Given the description of an element on the screen output the (x, y) to click on. 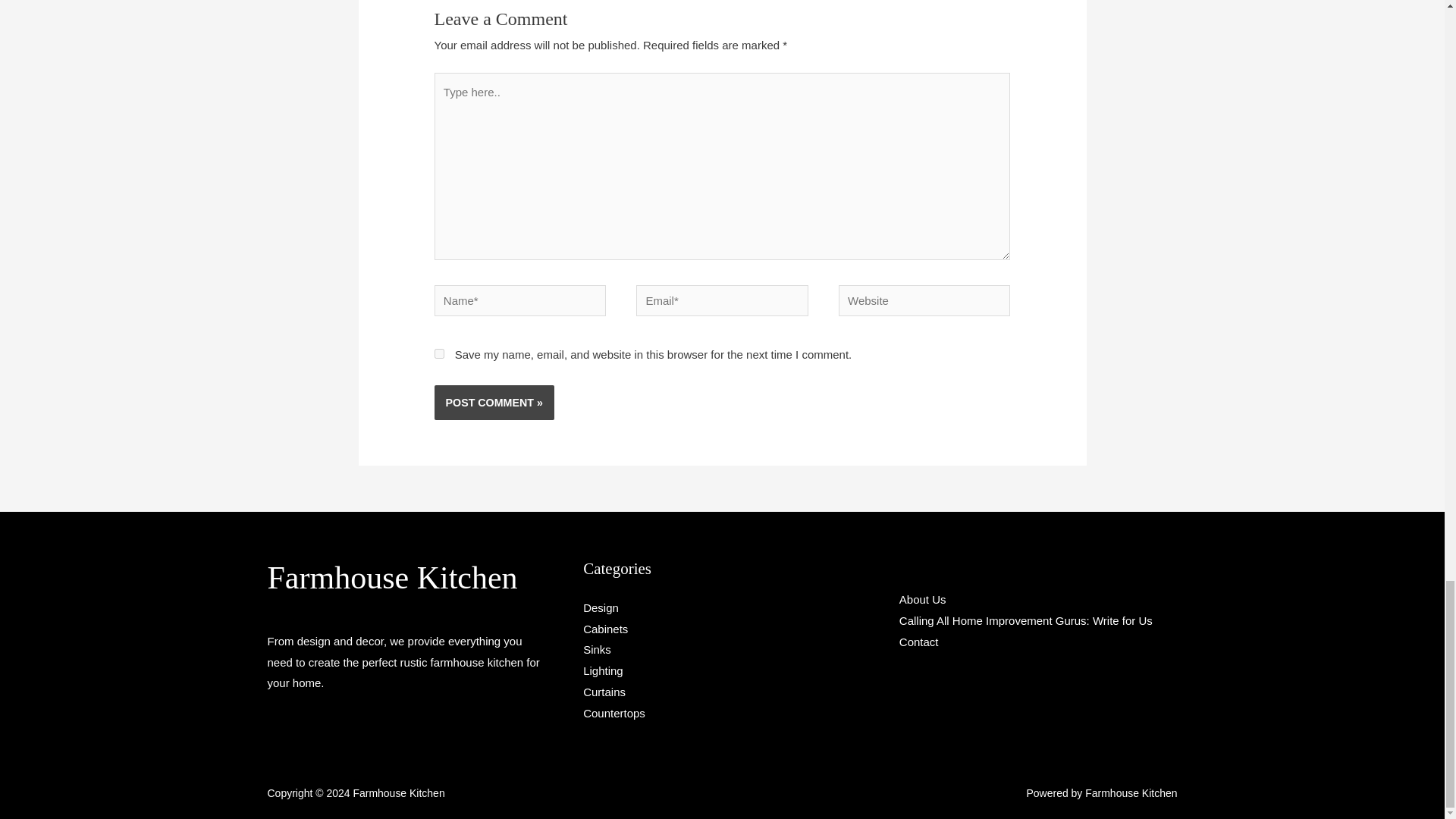
Contact (919, 641)
Lighting (603, 670)
Cabinets (605, 628)
About Us (922, 599)
Design (600, 607)
Calling All Home Improvement Gurus: Write for Us (1026, 620)
Countertops (614, 712)
yes (438, 353)
Curtains (604, 691)
Sinks (597, 649)
